Given the description of an element on the screen output the (x, y) to click on. 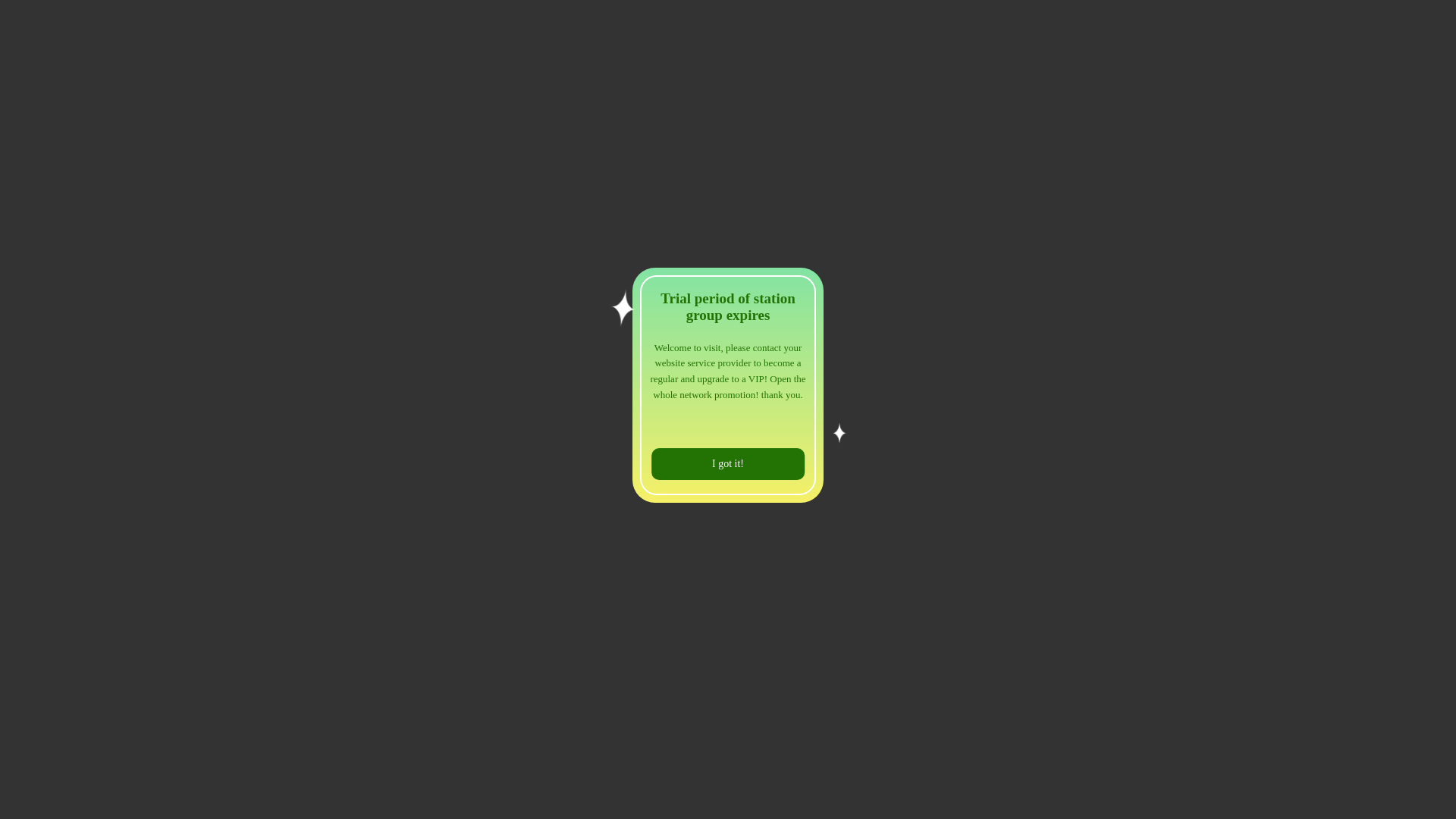
I got it! Element type: text (727, 464)
